Given the description of an element on the screen output the (x, y) to click on. 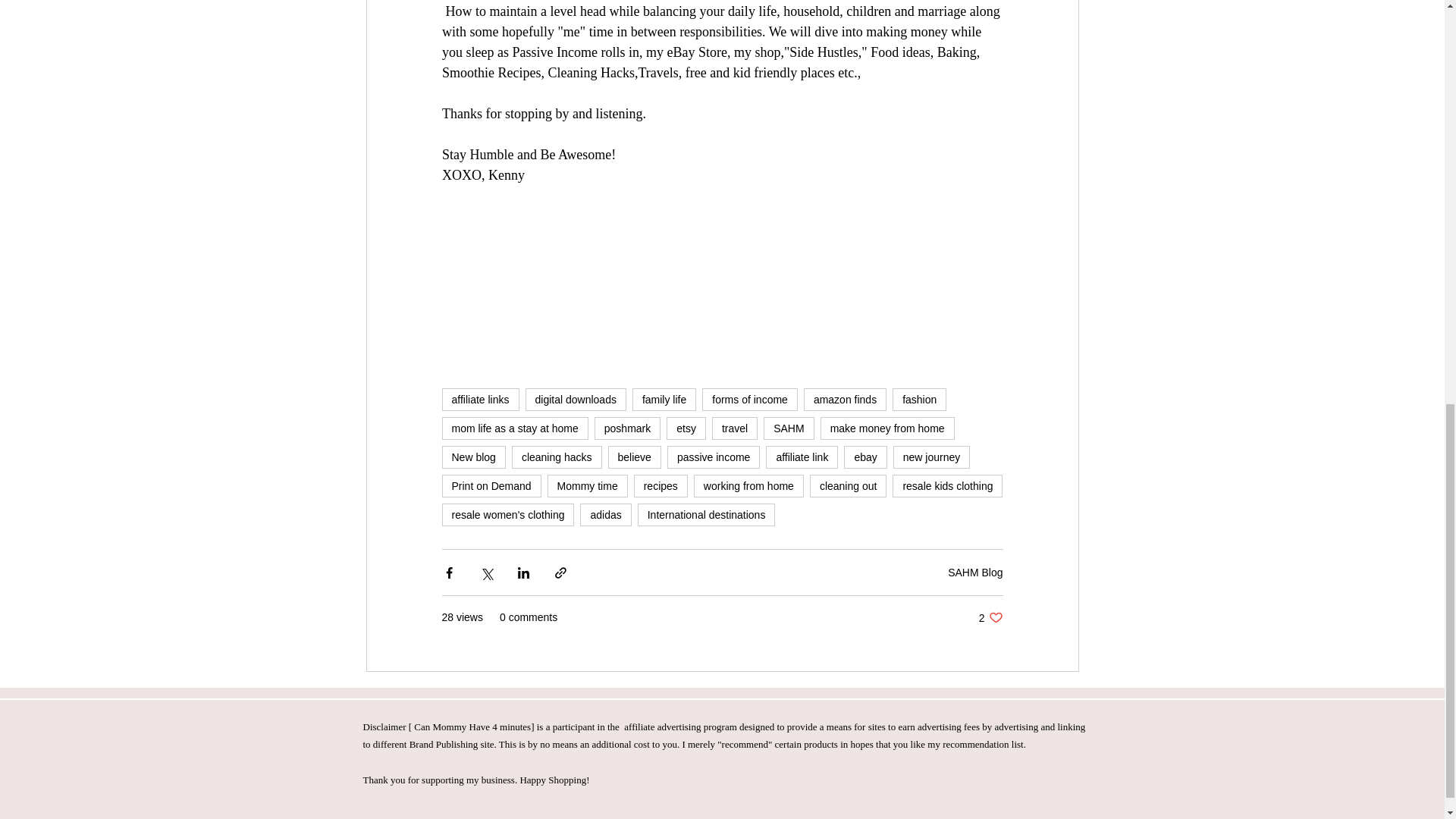
Print on Demand (490, 486)
affiliate link (801, 456)
poshmark (627, 427)
SAHM (787, 427)
remote content (721, 303)
working from home (748, 486)
ebay (865, 456)
amazon finds (844, 399)
New blog (473, 456)
resale kids clothing (947, 486)
